Given the description of an element on the screen output the (x, y) to click on. 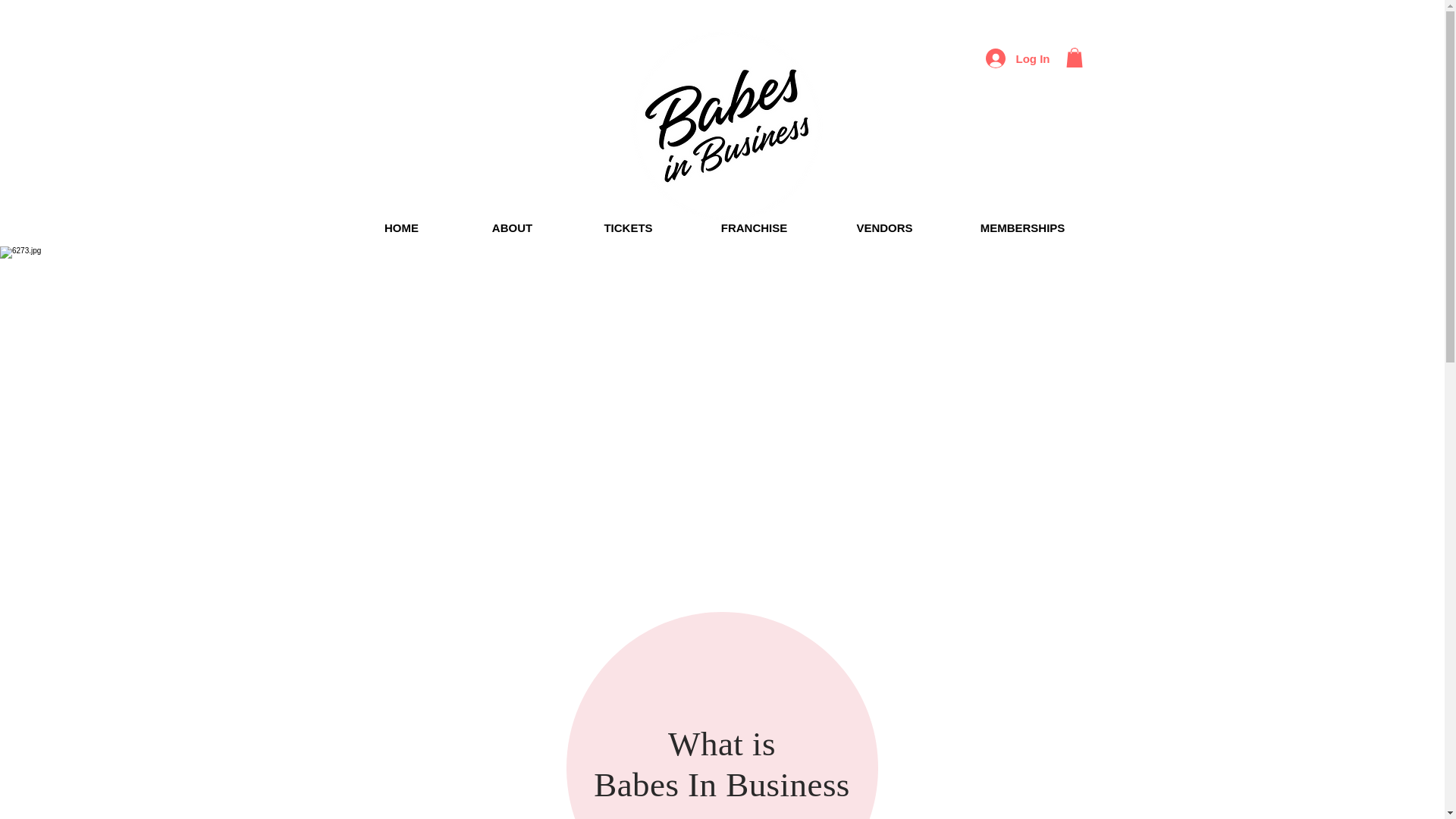
MEMBERSHIPS (1021, 228)
VENDORS (884, 228)
FRANCHISE (754, 228)
HOME (400, 228)
Log In (1018, 58)
